Given the description of an element on the screen output the (x, y) to click on. 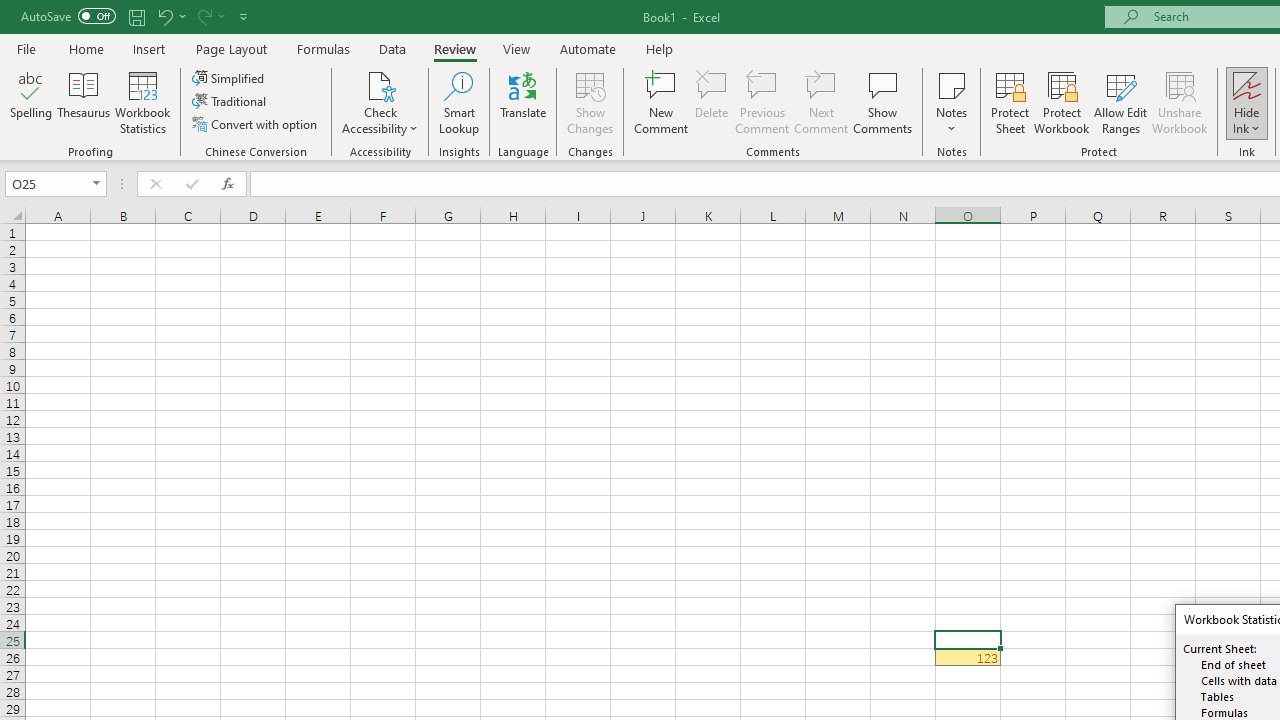
Traditional (230, 101)
Convert with option (256, 124)
Customize Quick Access Toolbar (244, 15)
Home (86, 48)
Smart Lookup (459, 102)
More Options (1247, 121)
New Comment (661, 102)
Formulas (323, 48)
Review (454, 48)
Check Accessibility (380, 84)
System (10, 11)
Insert (149, 48)
Hide Ink (1247, 84)
View (517, 48)
Next Comment (821, 102)
